Given the description of an element on the screen output the (x, y) to click on. 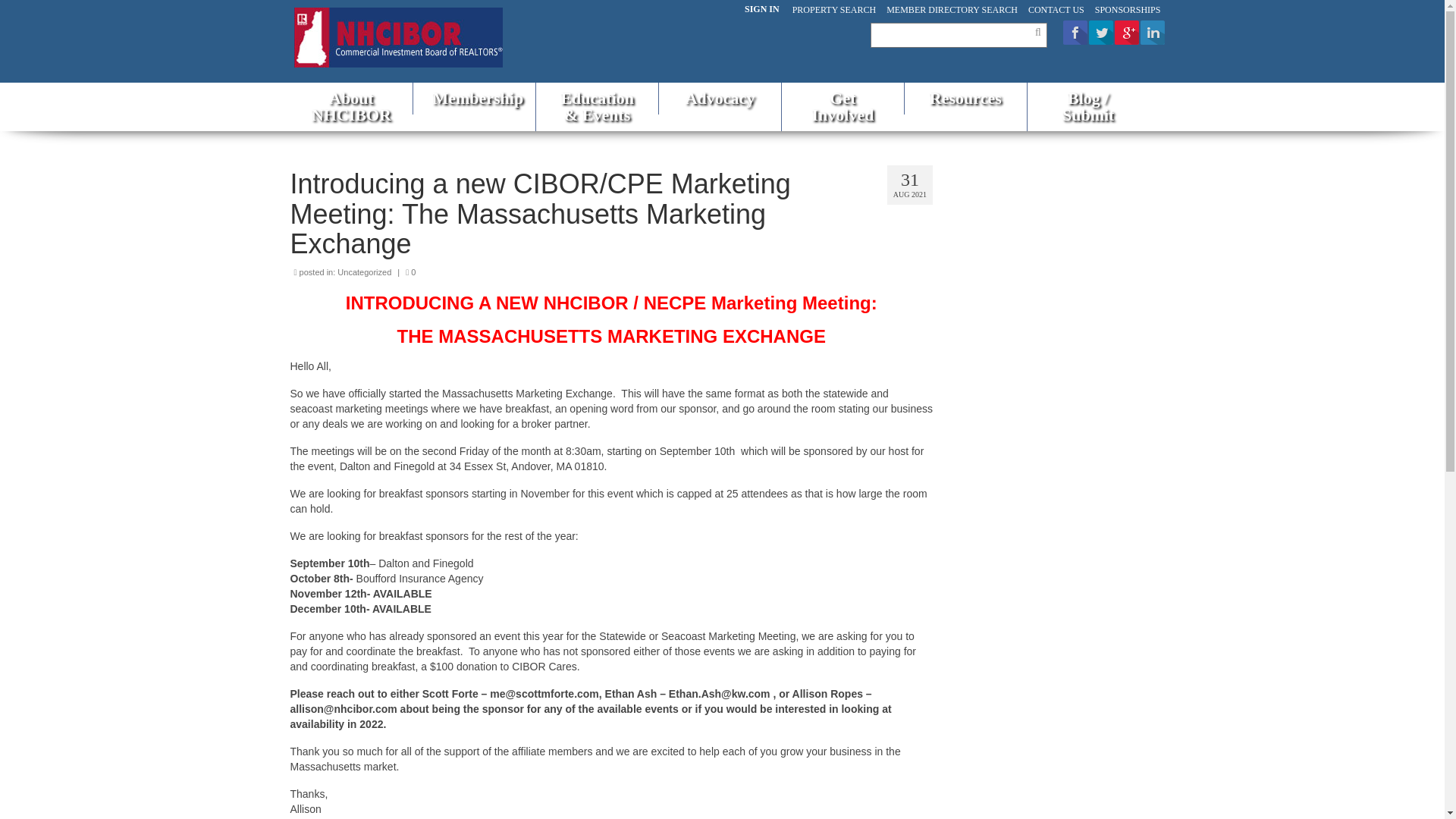
MEMBER DIRECTORY SEARCH (951, 9)
PROPERTY SEARCH (834, 9)
login (761, 8)
SIGN IN (761, 8)
SPONSORSHIPS (1127, 9)
CONTACT US (1055, 9)
